Given the description of an element on the screen output the (x, y) to click on. 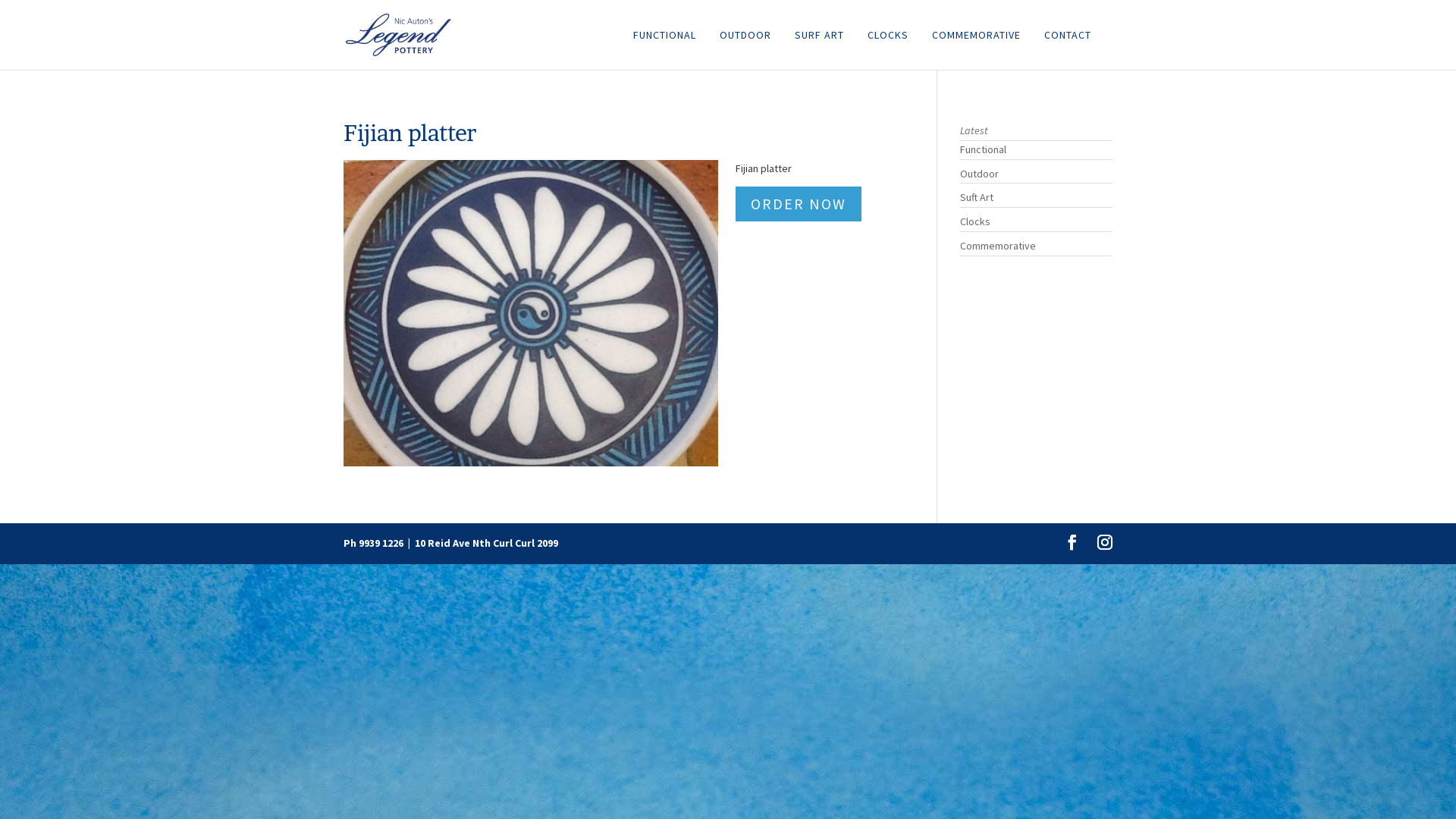
Functional Element type: text (983, 149)
CLOCKS Element type: text (887, 49)
CONTACT Element type: text (1067, 49)
Outdoor Element type: text (979, 173)
ORDER NOW Element type: text (798, 203)
Ph 9939 1226 Element type: text (373, 542)
Clocks Element type: text (975, 221)
COMMEMORATIVE Element type: text (975, 49)
Suft Art Element type: text (976, 196)
Commemorative Element type: text (997, 245)
OUTDOOR Element type: text (745, 49)
FUNCTIONAL Element type: text (664, 49)
SURF ART Element type: text (819, 49)
